Given the description of an element on the screen output the (x, y) to click on. 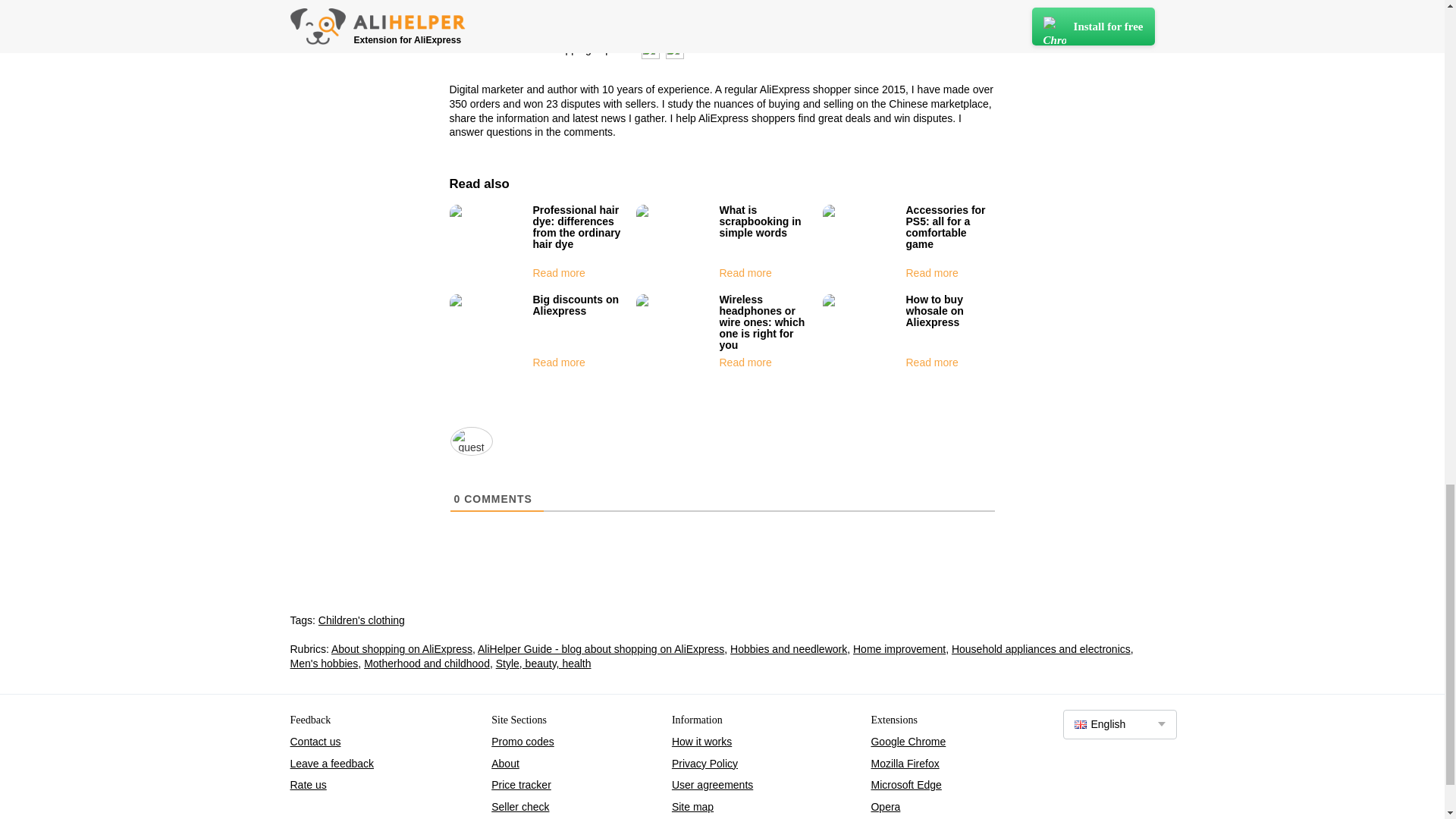
Read more (745, 362)
What is scrapbooking in simple words (759, 221)
How to buy whosale on Aliexpress (933, 310)
Read more (931, 362)
Accessories for PS5: all for a comfortable game (945, 226)
Read more (558, 272)
Big discounts on Aliexpress (575, 304)
Read more (931, 272)
Wireless headphones or wire ones: which one is right for you (762, 322)
Read more (745, 272)
Read more (558, 362)
